Given the description of an element on the screen output the (x, y) to click on. 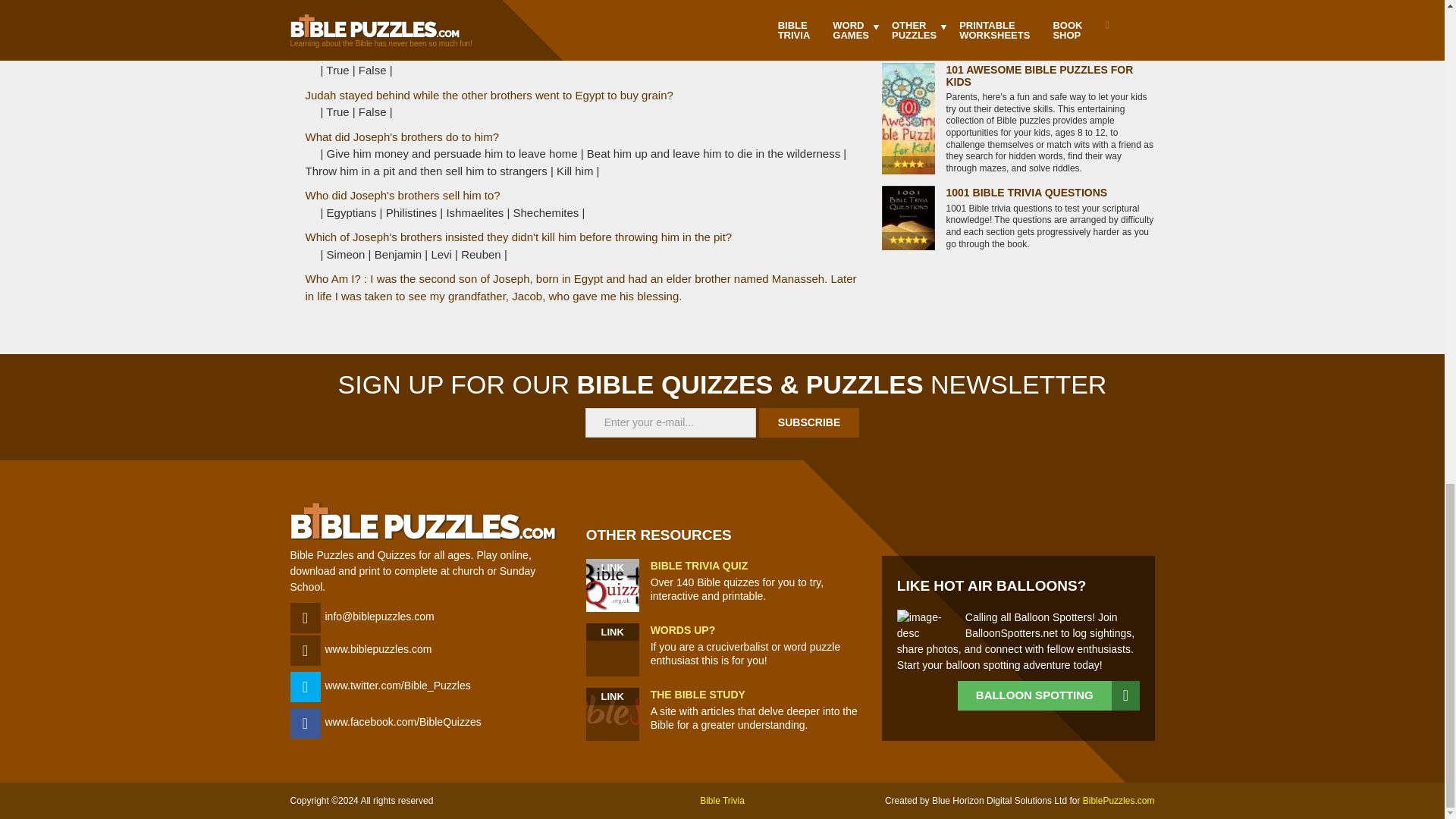
What did Joseph's brothers do to him? (401, 136)
Who did Joseph's brothers sell him to? (401, 195)
Joseph was sold into slavery by his brothers (415, 52)
